Given the description of an element on the screen output the (x, y) to click on. 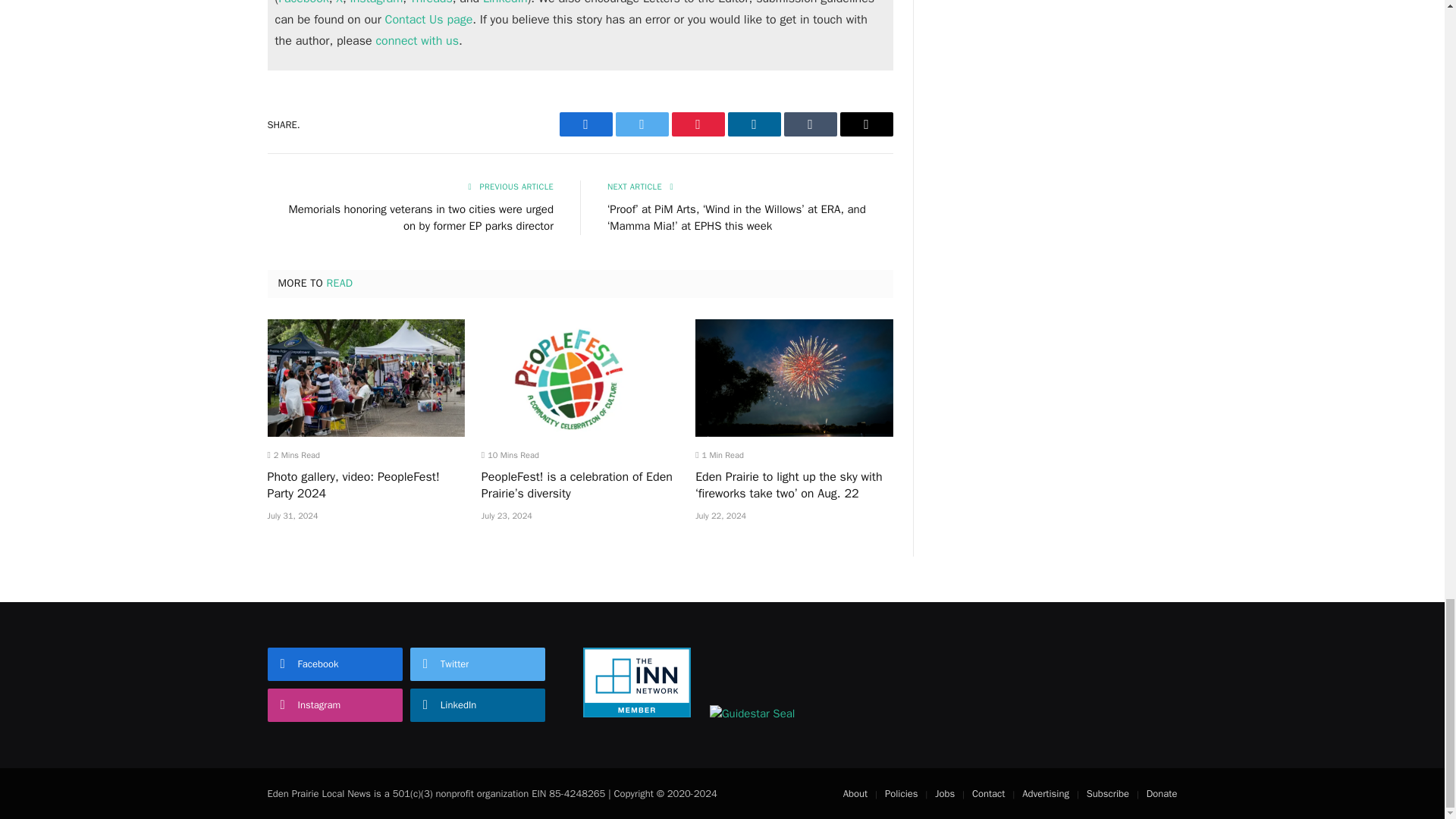
Share on Pinterest (698, 124)
Share on Tumblr (810, 124)
Share on LinkedIn (754, 124)
Share via Email (866, 124)
Share on Facebook (585, 124)
Photo gallery, video: PeopleFest! Party 2024 (365, 377)
